Given the description of an element on the screen output the (x, y) to click on. 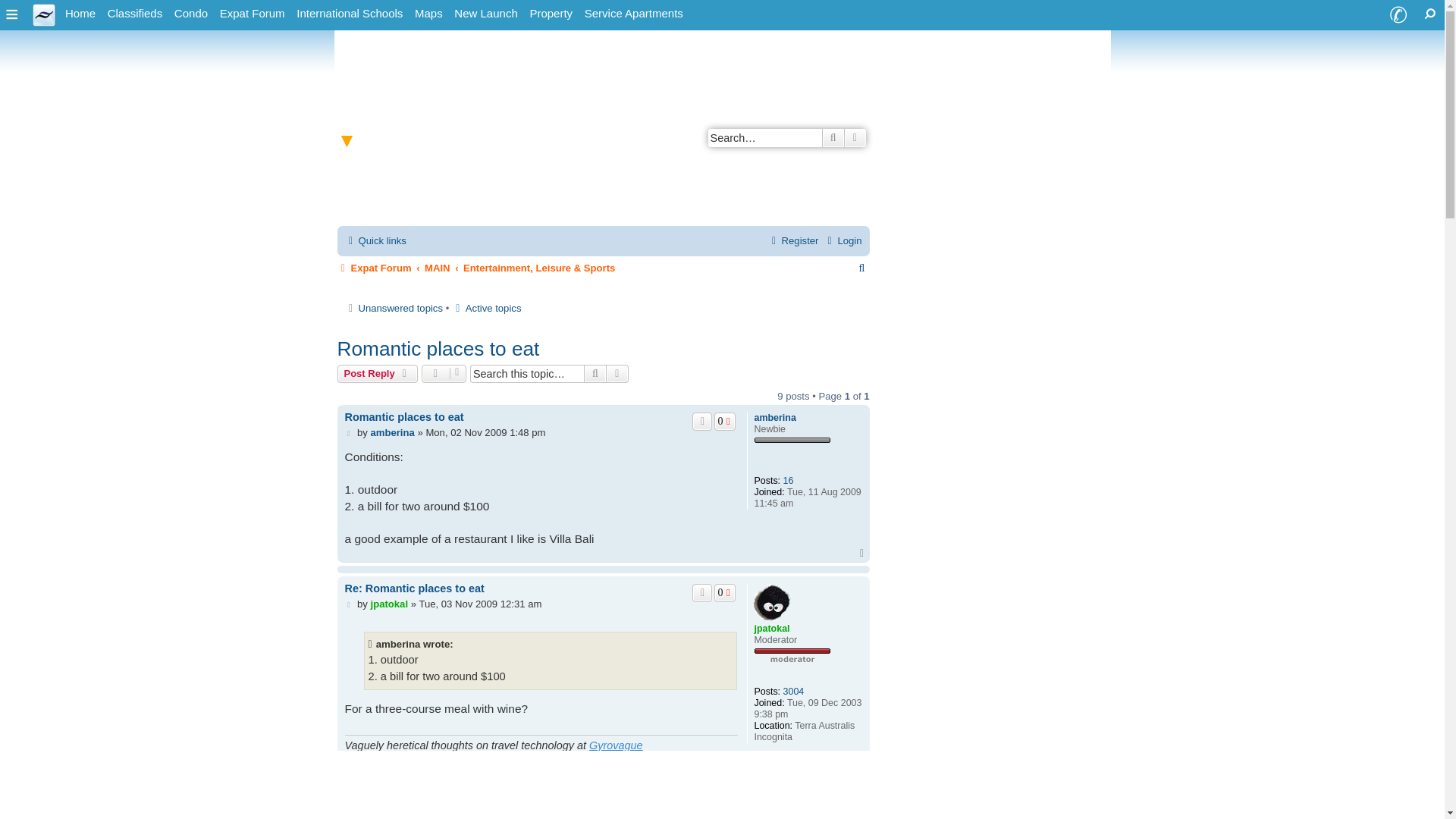
Singapore Classified Ads (135, 13)
New Launch (485, 13)
New Property Launch (485, 13)
Home (80, 13)
Contact Us (1397, 15)
Service Apartments (633, 13)
Classifieds (135, 13)
Singapore Expats (80, 13)
International Schools (349, 13)
Expat Forum (252, 13)
Condo (191, 13)
Singapore Property (550, 13)
Singapore Expats (44, 13)
Property (550, 13)
Singapore Expats Forum (252, 13)
